Given the description of an element on the screen output the (x, y) to click on. 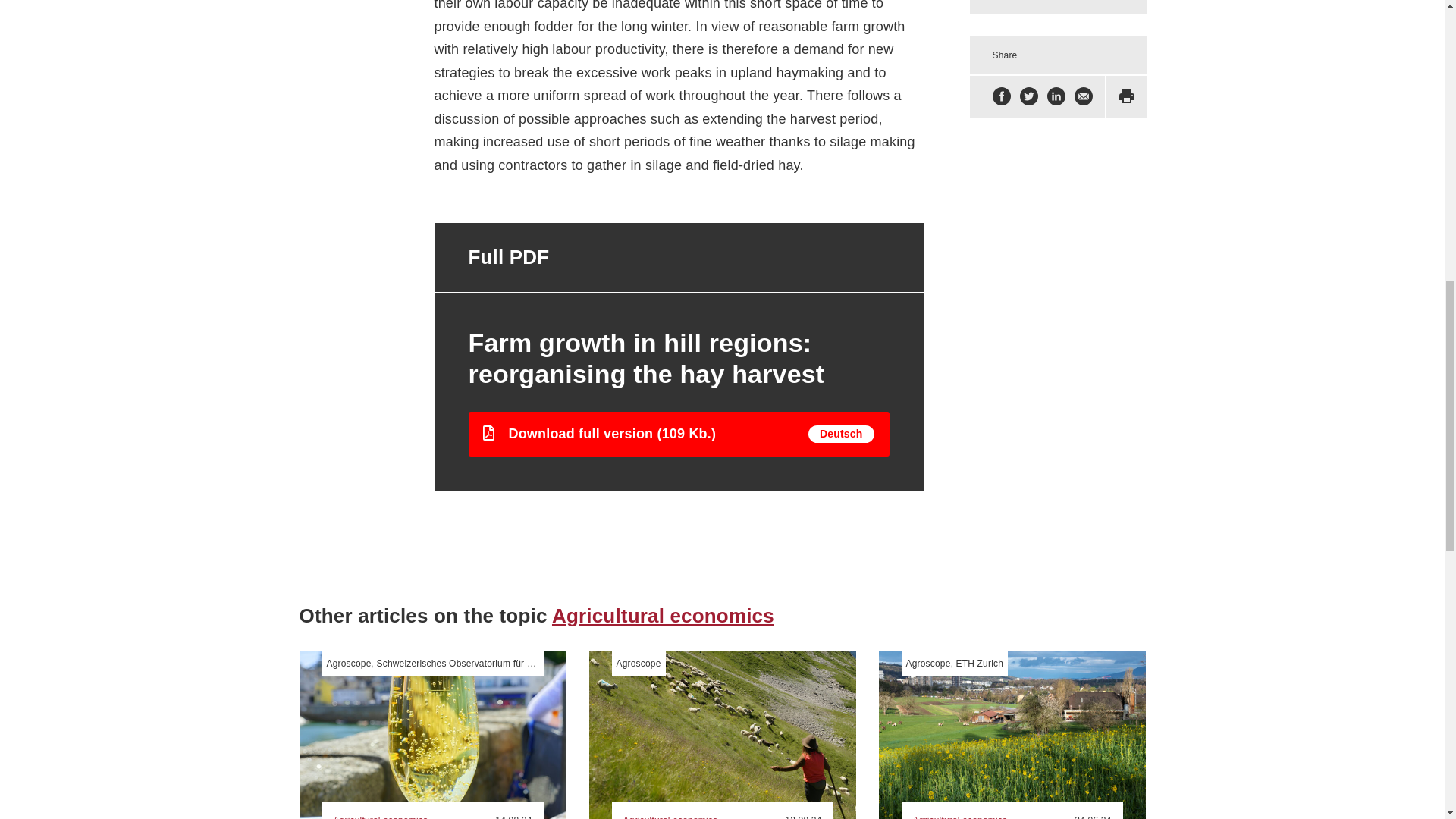
Agroscope (348, 663)
Share by e-mail (1083, 96)
Share on LinkedIn (1055, 96)
Download this article as a PDF (1126, 96)
Share on Twitter (1029, 96)
Share on Twitter (1029, 96)
Read articles from the Agricultural economics category (382, 816)
Agricultural economics (662, 615)
Share by e-mail (1083, 96)
www.agroscope.ch (348, 663)
